Given the description of an element on the screen output the (x, y) to click on. 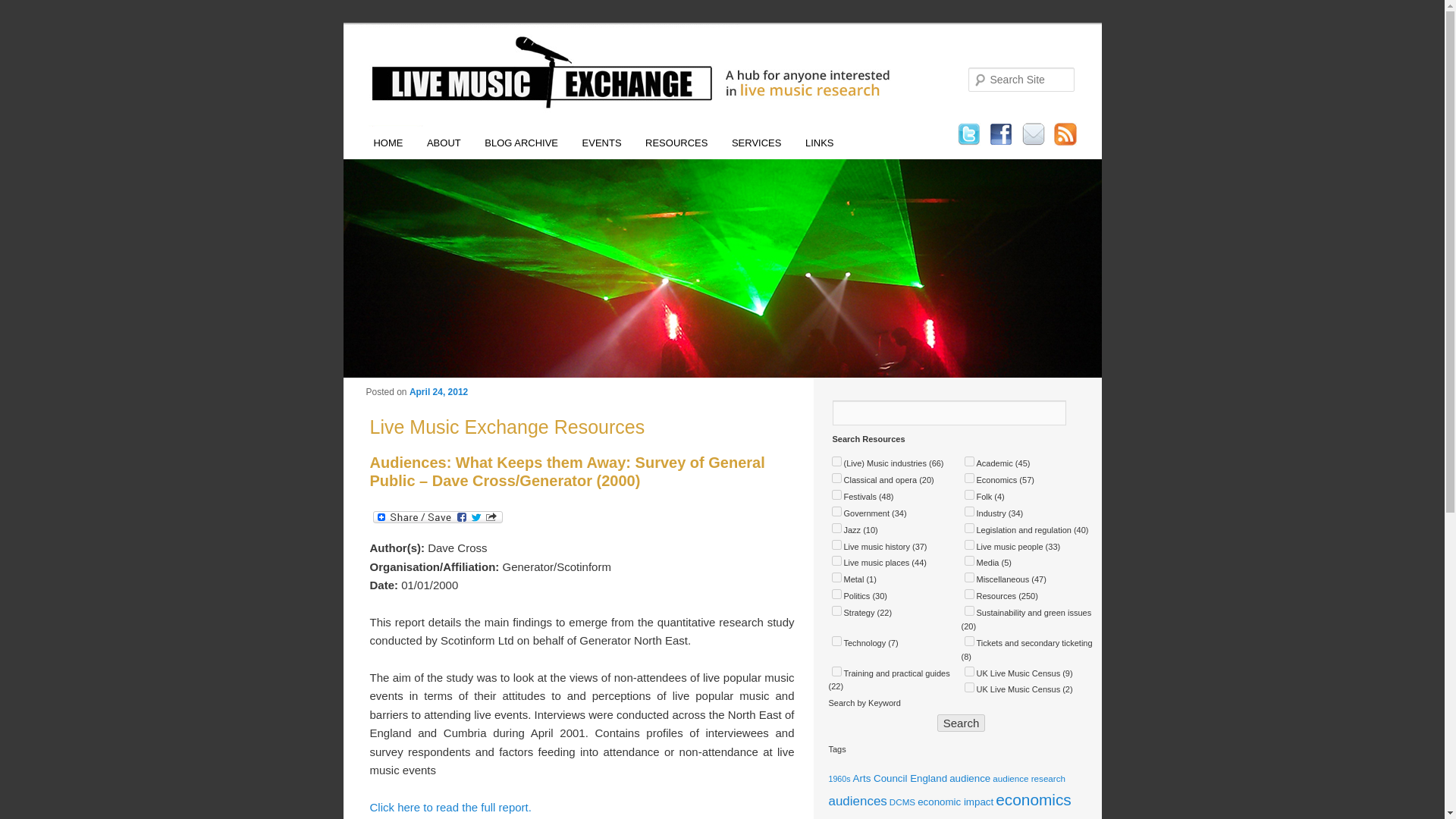
audience (969, 778)
Click here to read the full report. (450, 807)
April 24, 2012 (438, 391)
classical-and-opera (836, 478)
Skip to primary content (424, 145)
academic (968, 461)
1960s (839, 777)
industry (968, 511)
Arts Council England (900, 778)
ABOUT (442, 142)
audience research (1028, 777)
audiences (857, 800)
SERVICES (756, 142)
Festivals (1033, 818)
EVENTS (601, 142)
